Given the description of an element on the screen output the (x, y) to click on. 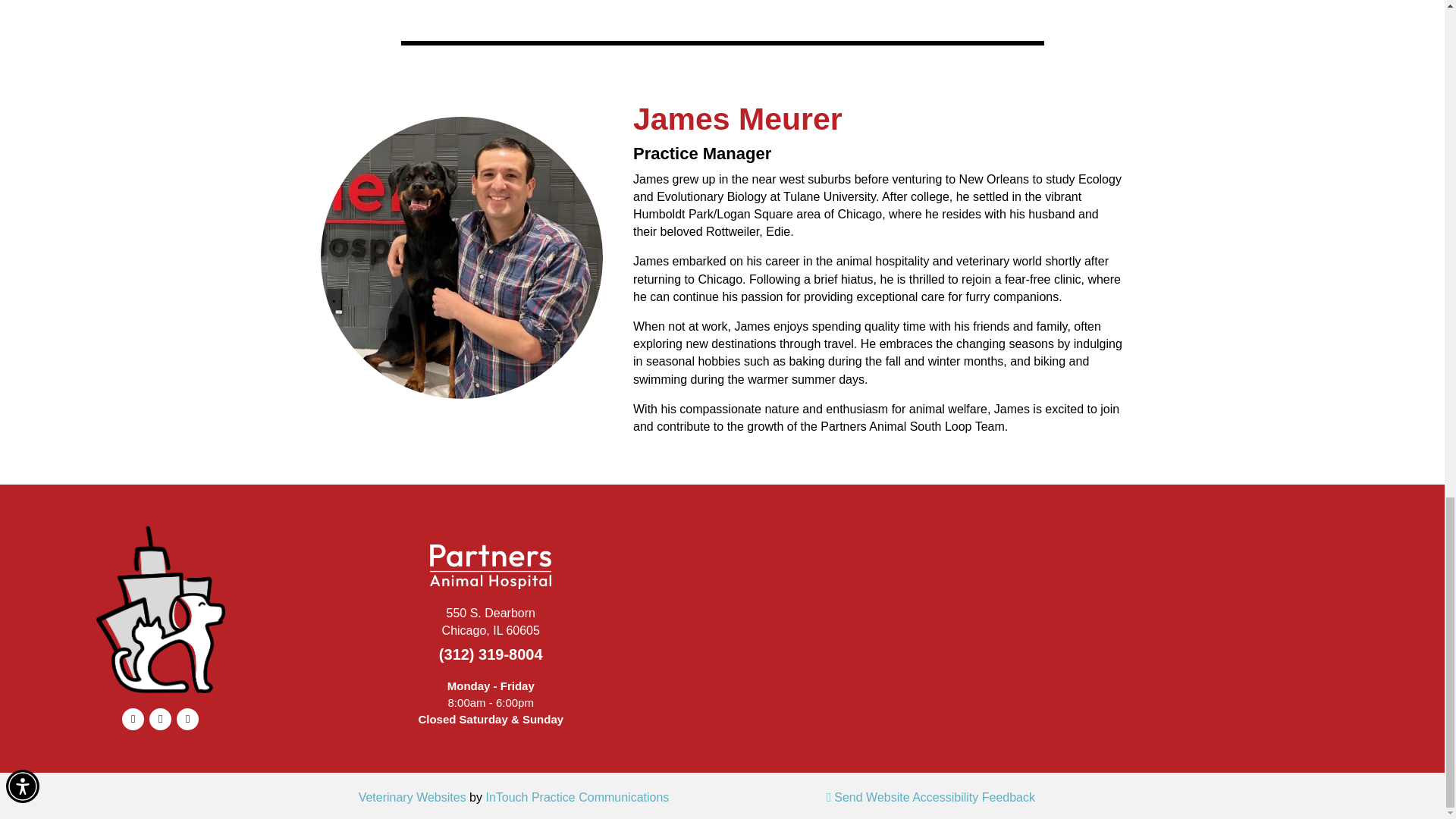
James at PAH South Loop (461, 258)
Partners Nameonly (490, 566)
Partners Graphic (160, 609)
